Given the description of an element on the screen output the (x, y) to click on. 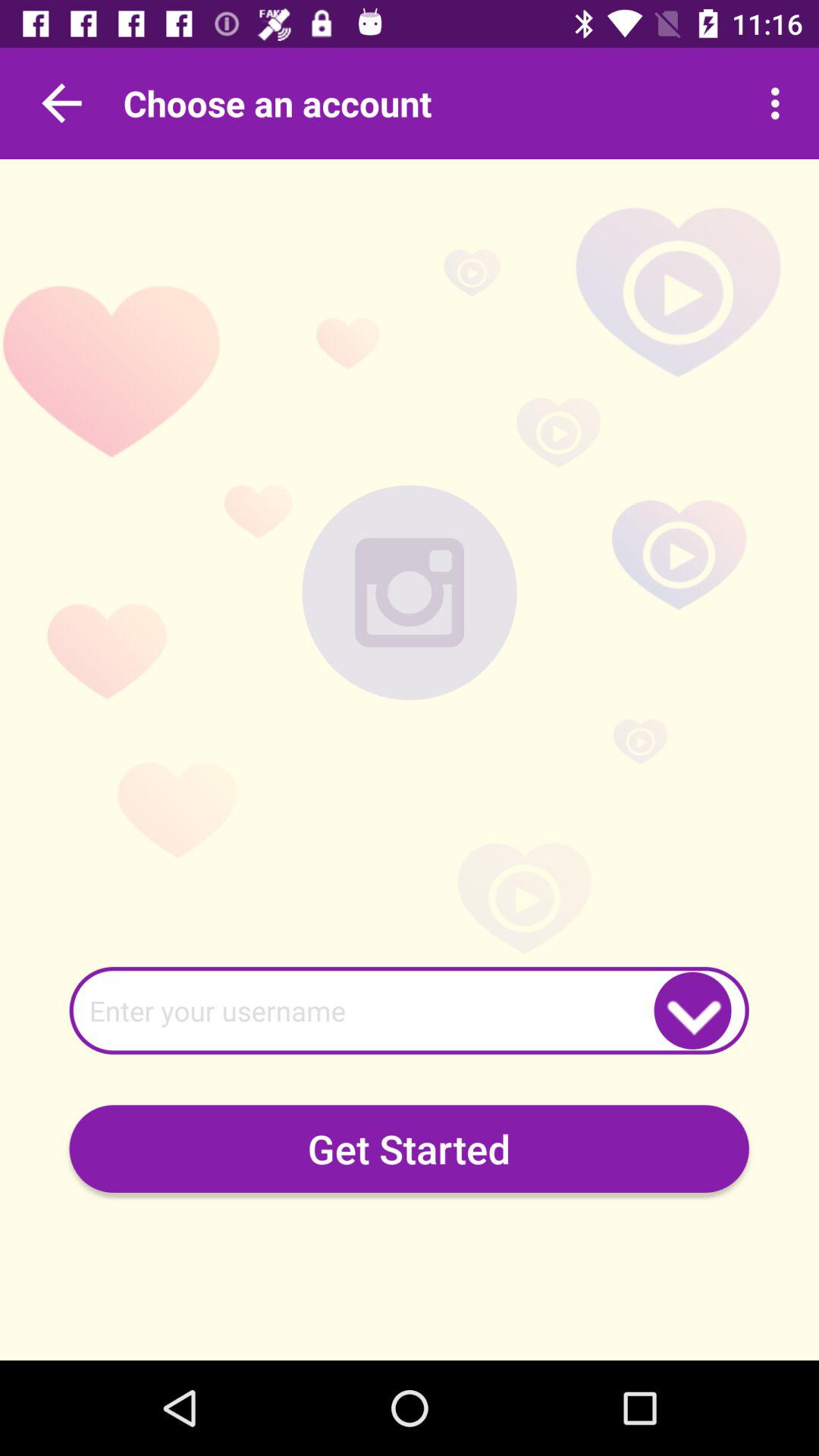
previous tab (61, 103)
